Given the description of an element on the screen output the (x, y) to click on. 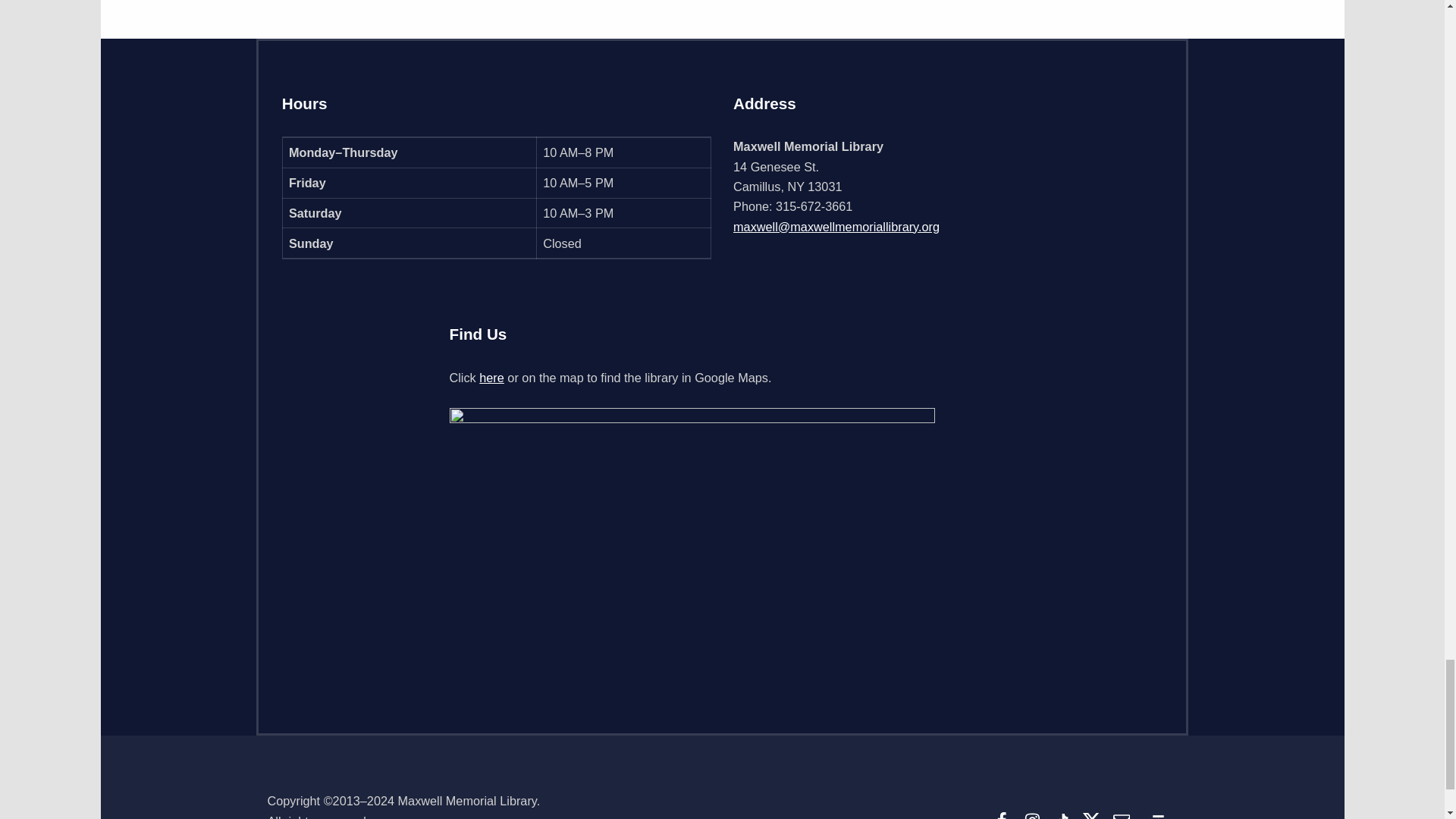
Back to top (1158, 812)
